Given the description of an element on the screen output the (x, y) to click on. 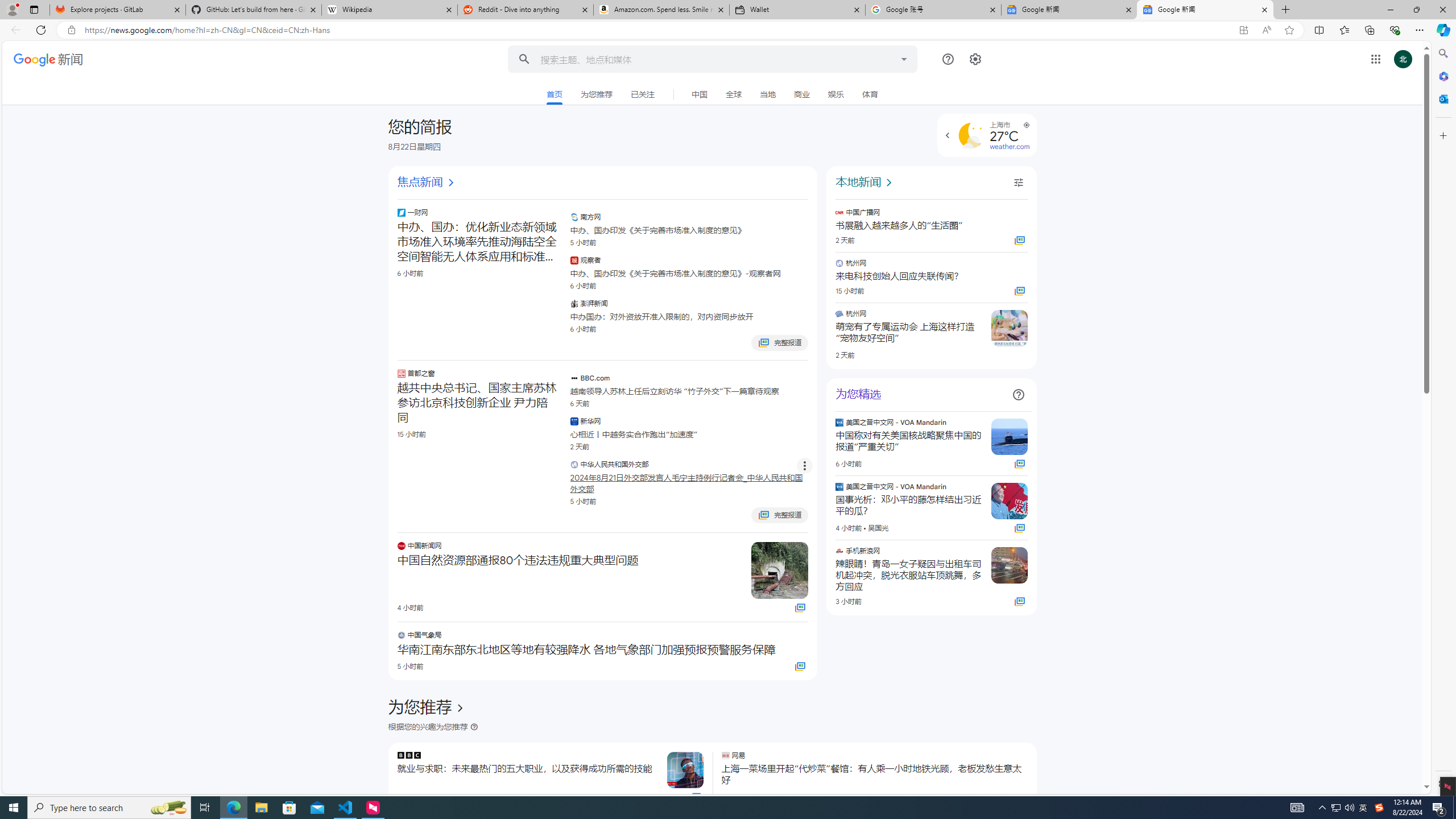
Class: YMQYob NMm5M hhikbc (459, 708)
Class: VCnfNe (711, 94)
